Given the description of an element on the screen output the (x, y) to click on. 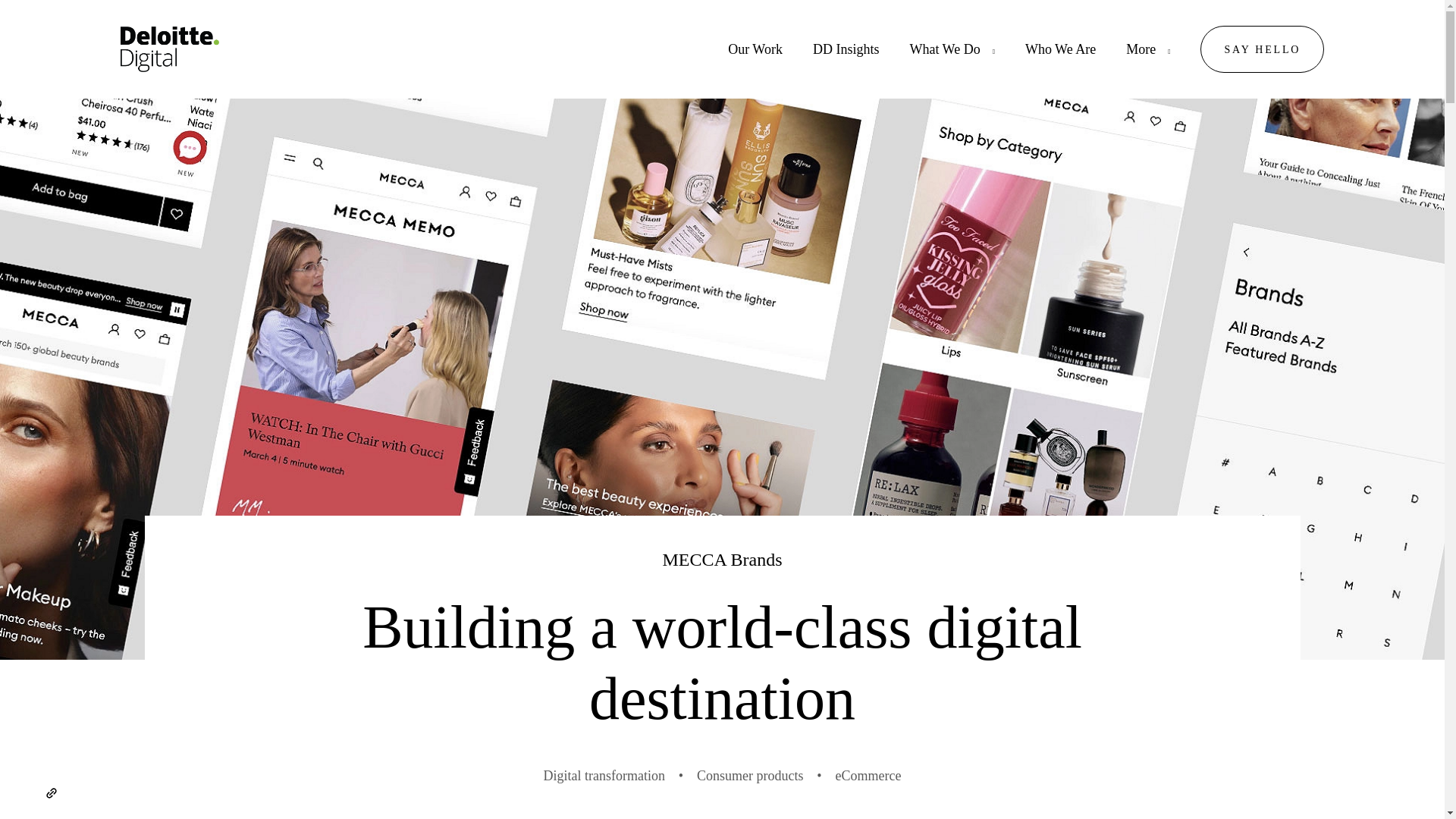
Our Work (755, 48)
Who We Are (1060, 48)
More (1140, 48)
SAY HELLO (1261, 48)
What We Do (943, 48)
DD Insights (845, 48)
